Given the description of an element on the screen output the (x, y) to click on. 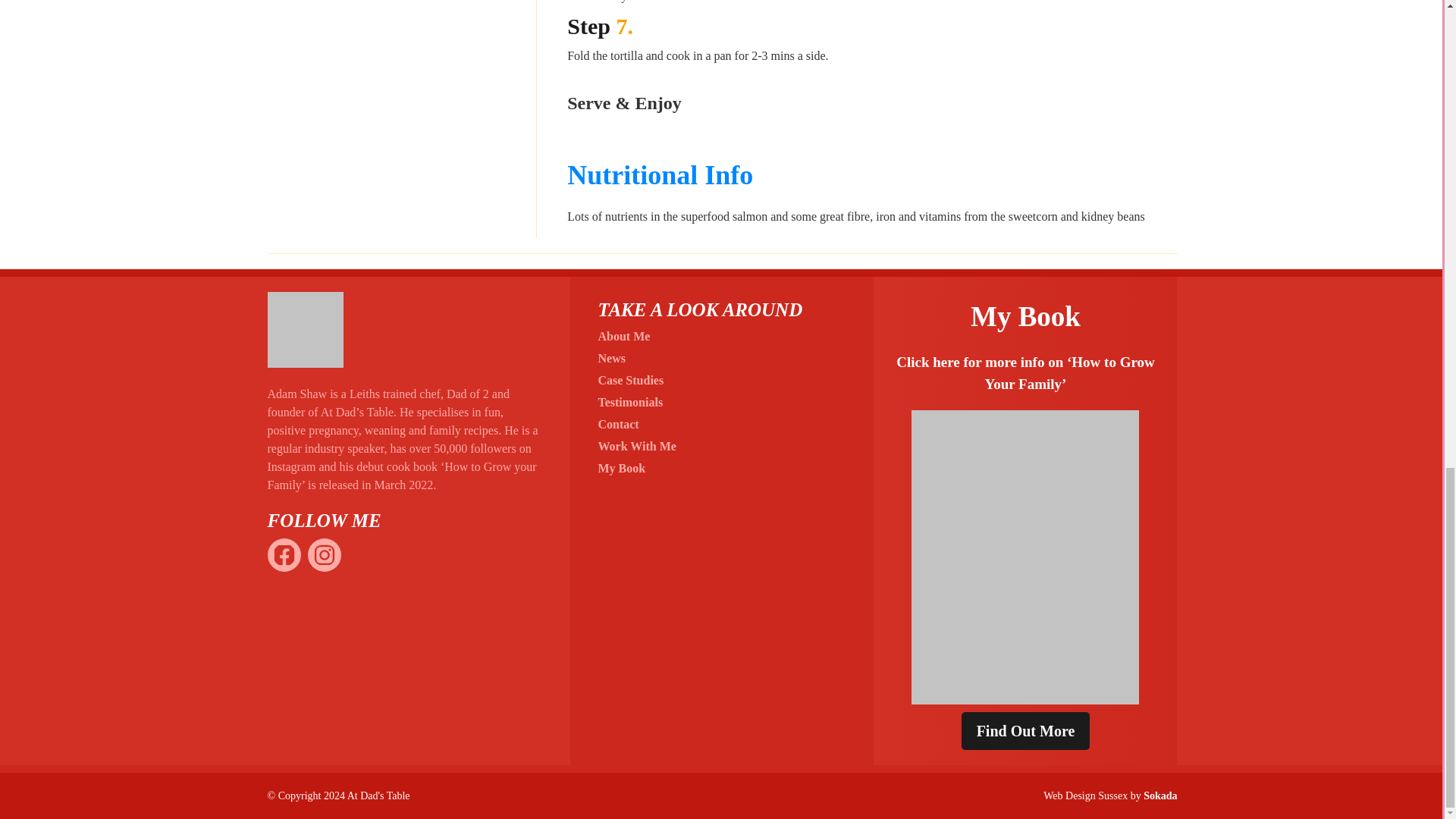
News (610, 358)
About Me (622, 336)
